Given the description of an element on the screen output the (x, y) to click on. 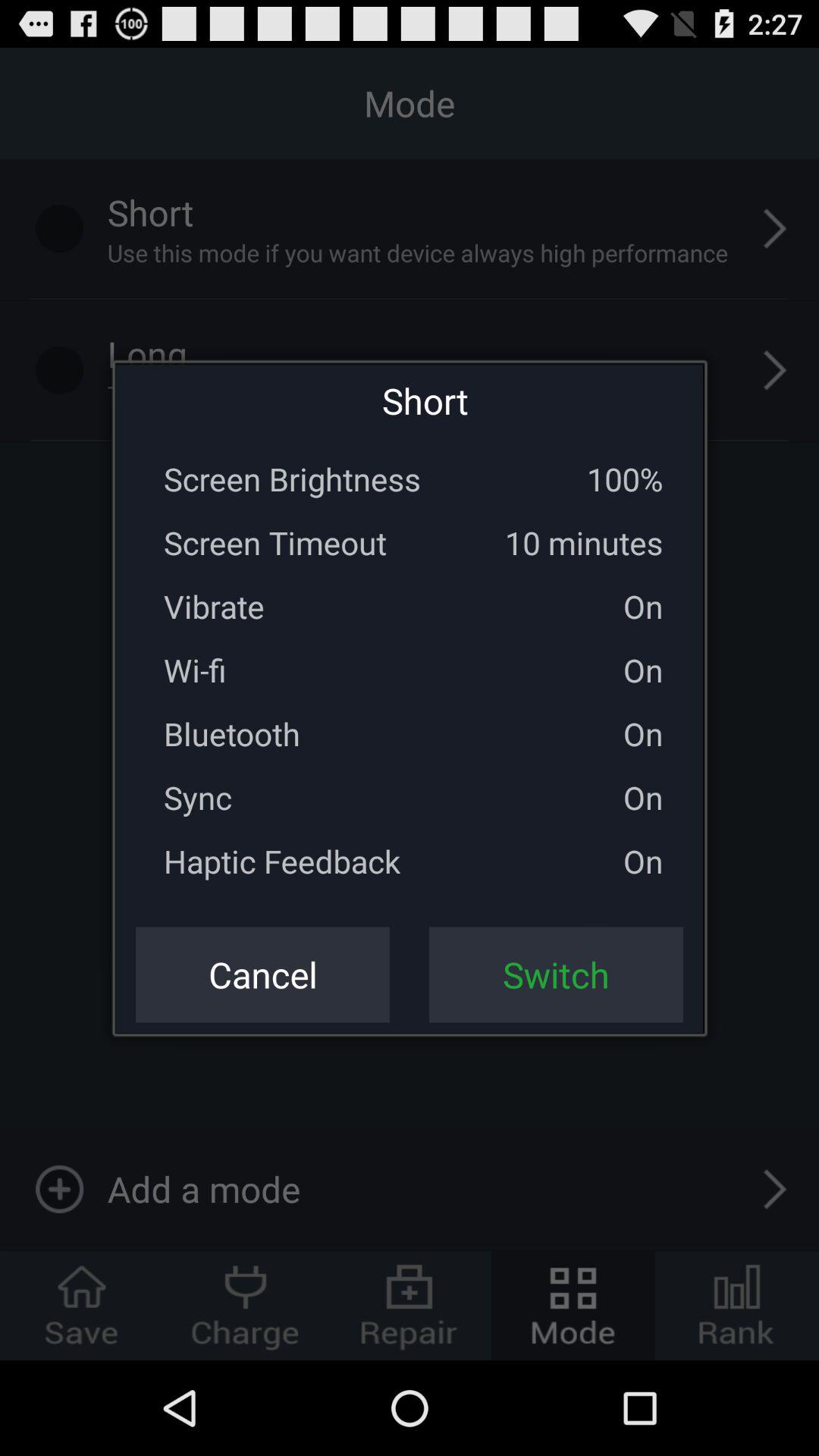
tap icon below on icon (556, 974)
